Given the description of an element on the screen output the (x, y) to click on. 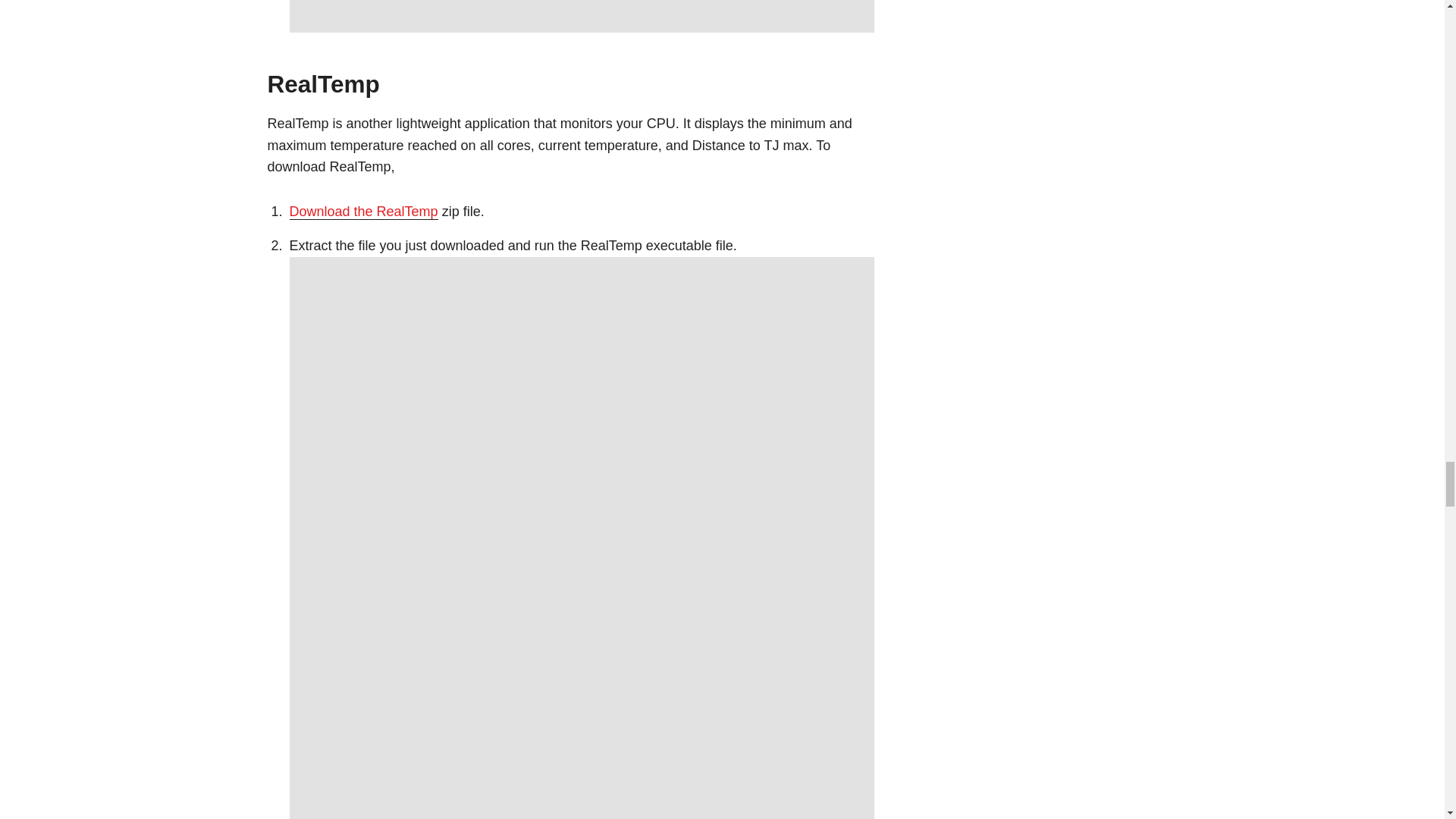
8 Best Tools To Monitor CPU Temperature 24 (582, 16)
